Given the description of an element on the screen output the (x, y) to click on. 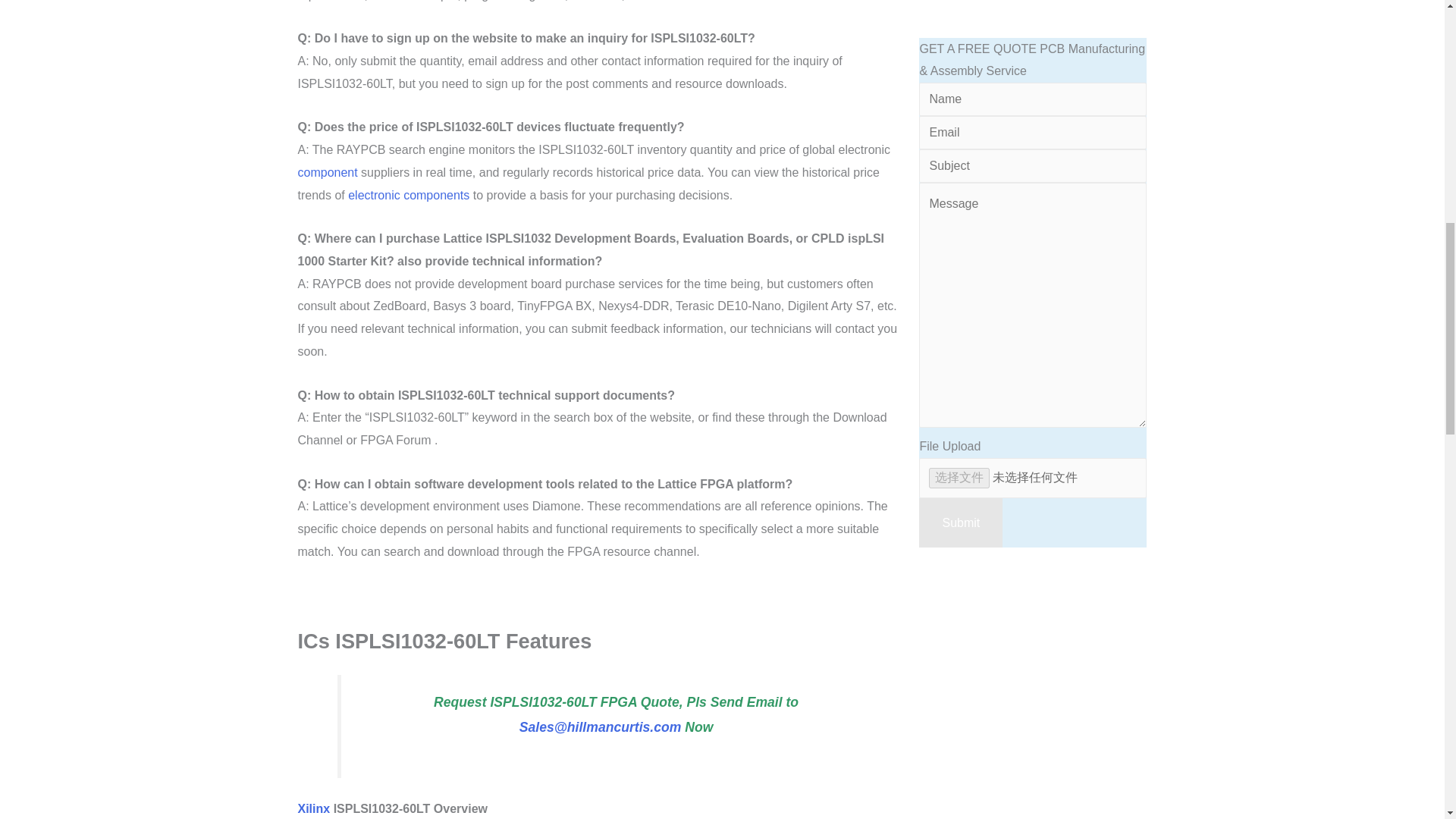
electronic components (407, 195)
Xilinx (313, 808)
component (326, 172)
